Given the description of an element on the screen output the (x, y) to click on. 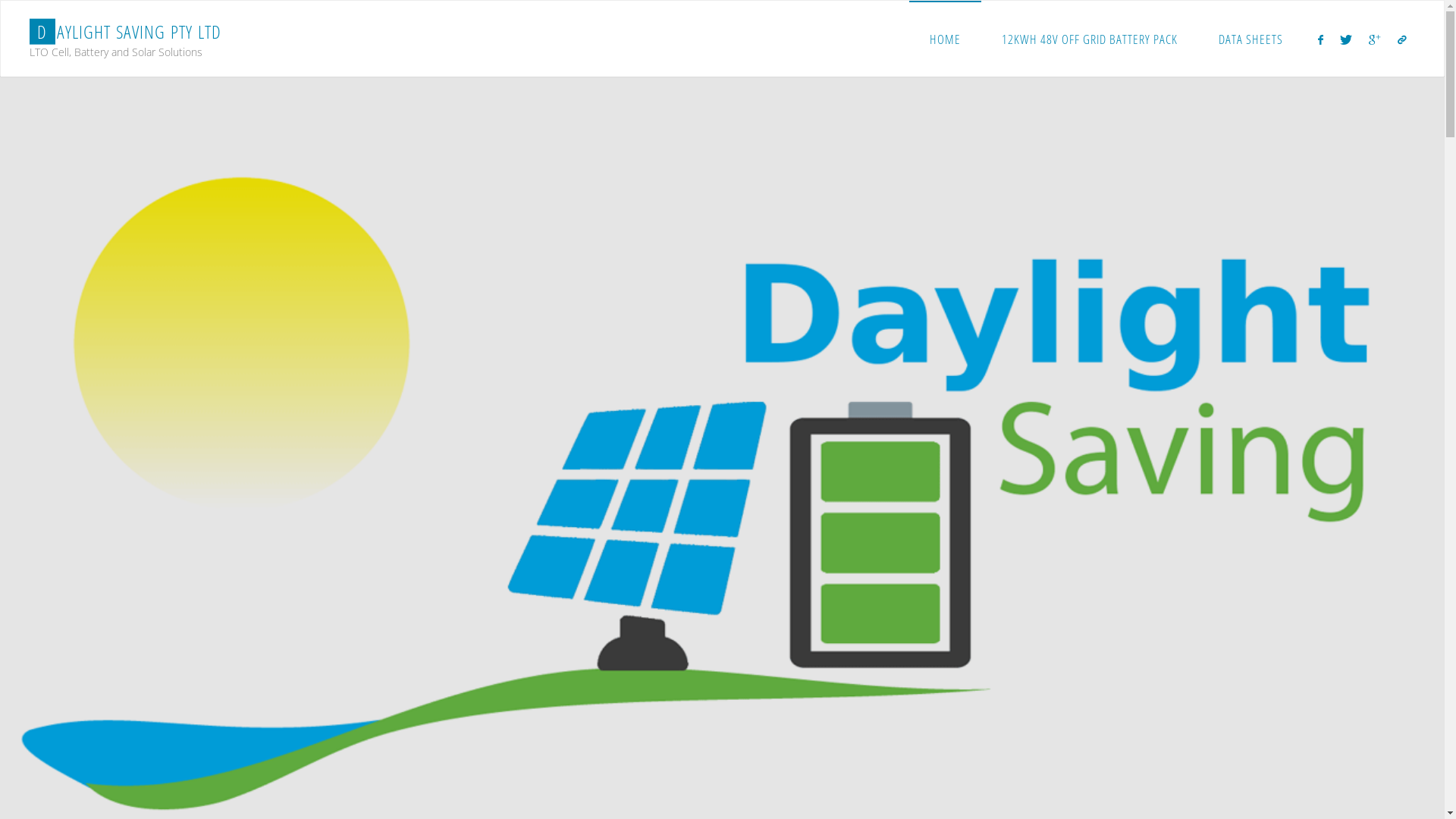
DATA SHEETS Element type: text (1250, 38)
DAYLIGHT SAVING PTY LTD Element type: text (125, 31)
Google Plus Element type: hover (1374, 39)
Twitter Element type: hover (1345, 39)
12KWH 48V OFF GRID BATTERY PACK Element type: text (1089, 38)
Facebook Element type: hover (1319, 39)
HOME Element type: text (945, 38)
Custom Social Element type: hover (1402, 39)
